Given the description of an element on the screen output the (x, y) to click on. 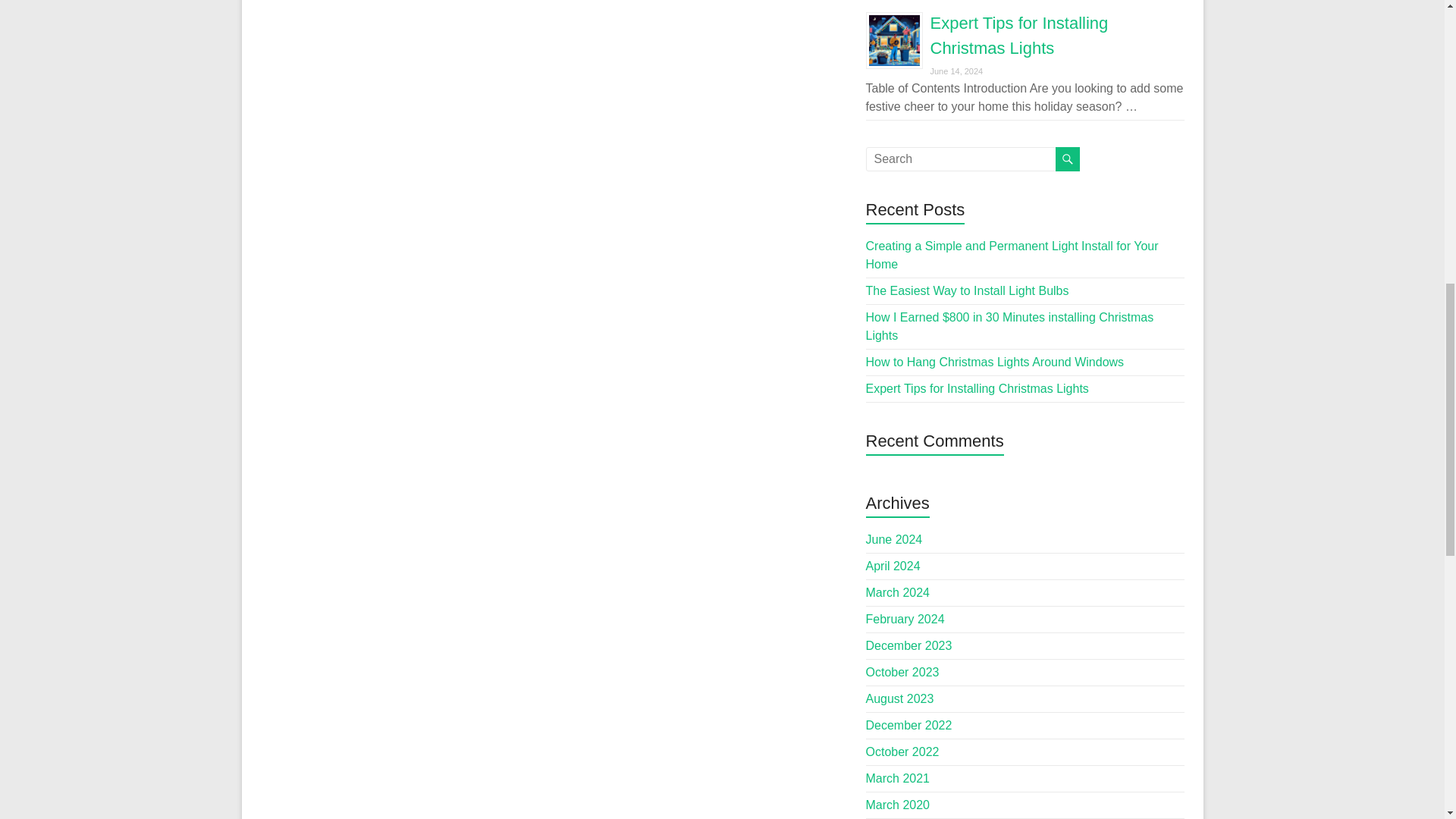
Creating a Simple and Permanent Light Install for Your Home (1012, 255)
March 2024 (898, 592)
Expert Tips for Installing Christmas Lights (977, 388)
April 2024 (893, 565)
February 2024 (905, 618)
The Easiest Way to Install Light Bulbs (967, 290)
How to Hang Christmas Lights Around Windows (995, 361)
June 2024 (894, 539)
Expert Tips for Installing Christmas Lights (1019, 35)
